Given the description of an element on the screen output the (x, y) to click on. 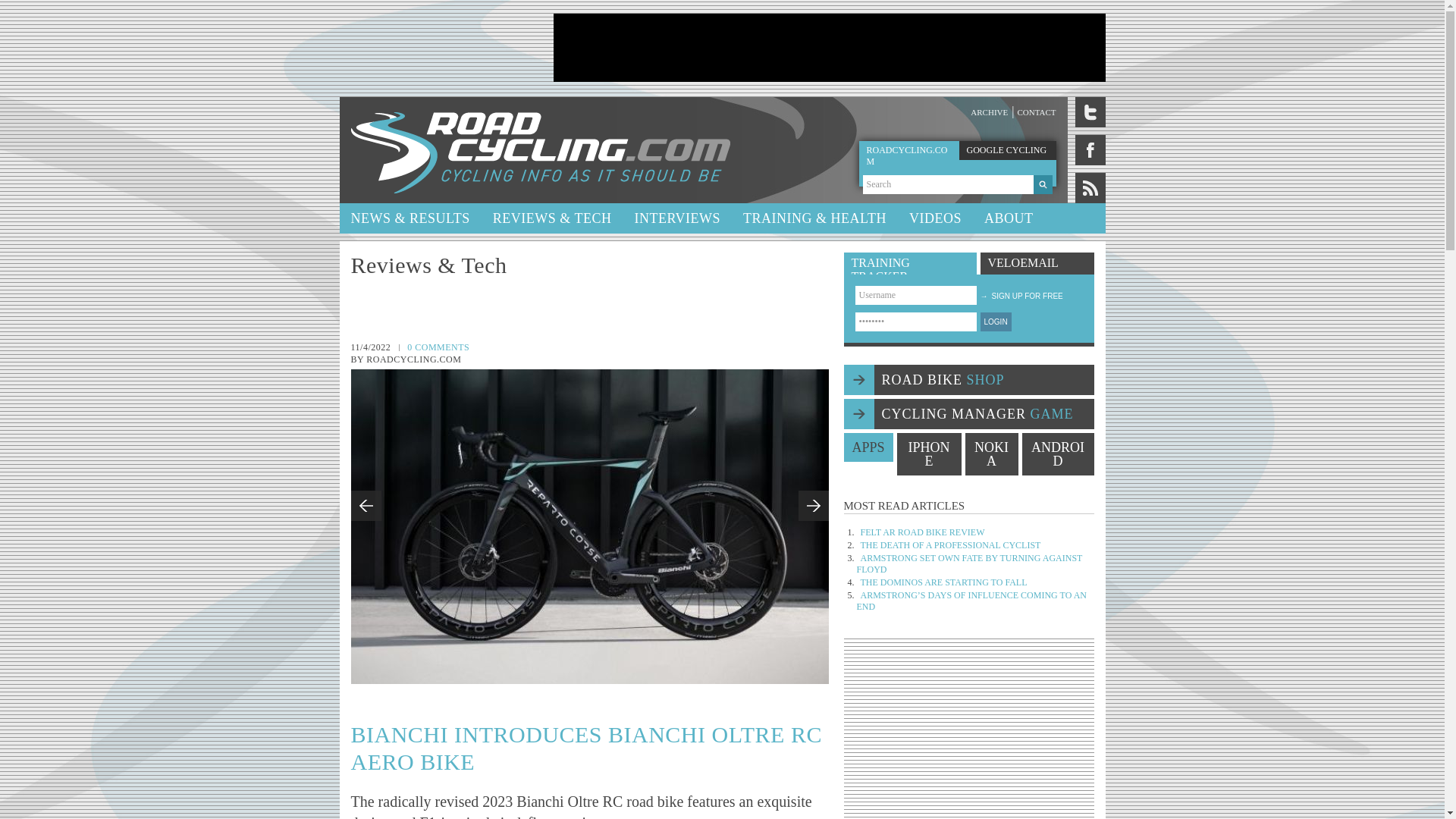
ABOUT (1008, 218)
LOGIN (994, 321)
INTERVIEWS (677, 218)
ARMSTRONG SET OWN FATE BY TURNING AGAINST FLOYD (970, 563)
Advertisement (969, 733)
CONTACT (1035, 112)
NOKIA (990, 454)
0 COMMENTS (437, 346)
Password (916, 321)
FELT AR ROAD BIKE REVIEW (922, 532)
Advertisement (829, 47)
CYCLING MANAGER GAME (968, 413)
ROAD BIKE SHOP (968, 379)
IPHONE (928, 454)
ANDROID (1058, 454)
